Given the description of an element on the screen output the (x, y) to click on. 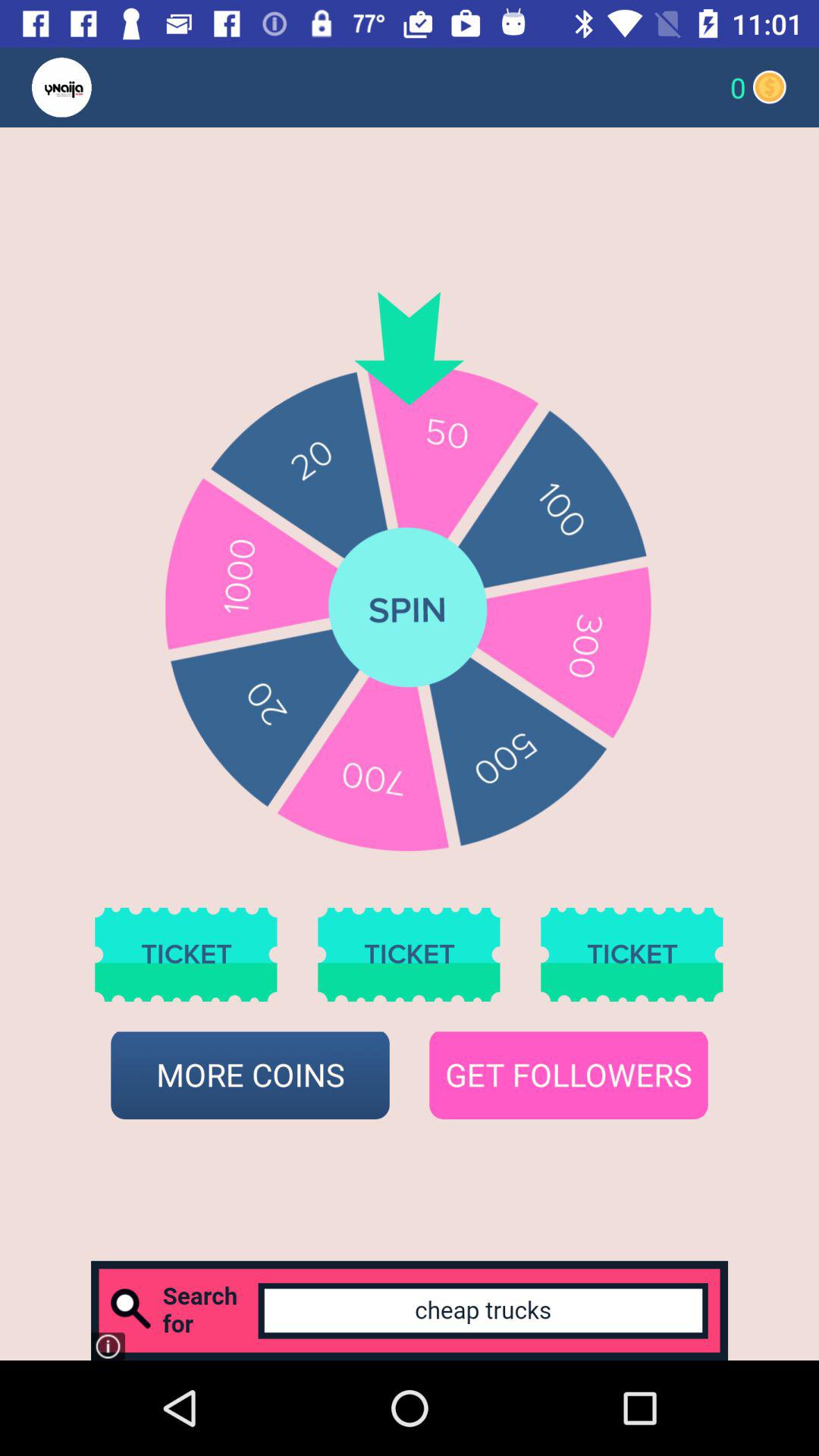
press the item to the right of the more coins (568, 1075)
